Given the description of an element on the screen output the (x, y) to click on. 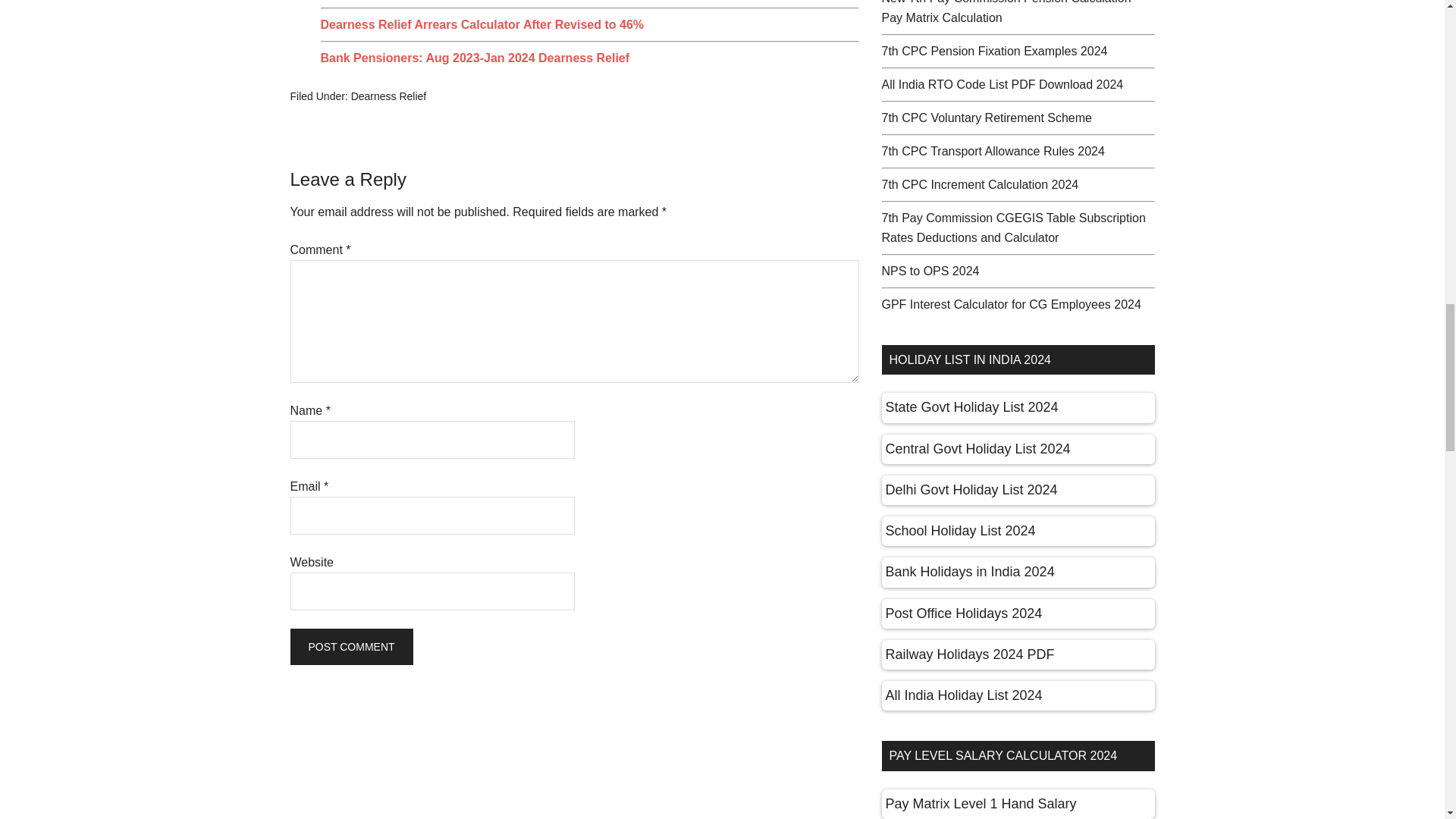
Dearness Relief (388, 96)
Bank Pensioners: Aug 2023-Jan 2024 Dearness Relief (474, 57)
Post Comment (350, 646)
Post Comment (350, 646)
Bank Pensioners: Aug 2023-Jan 2024 Dearness Relief (474, 57)
